Given the description of an element on the screen output the (x, y) to click on. 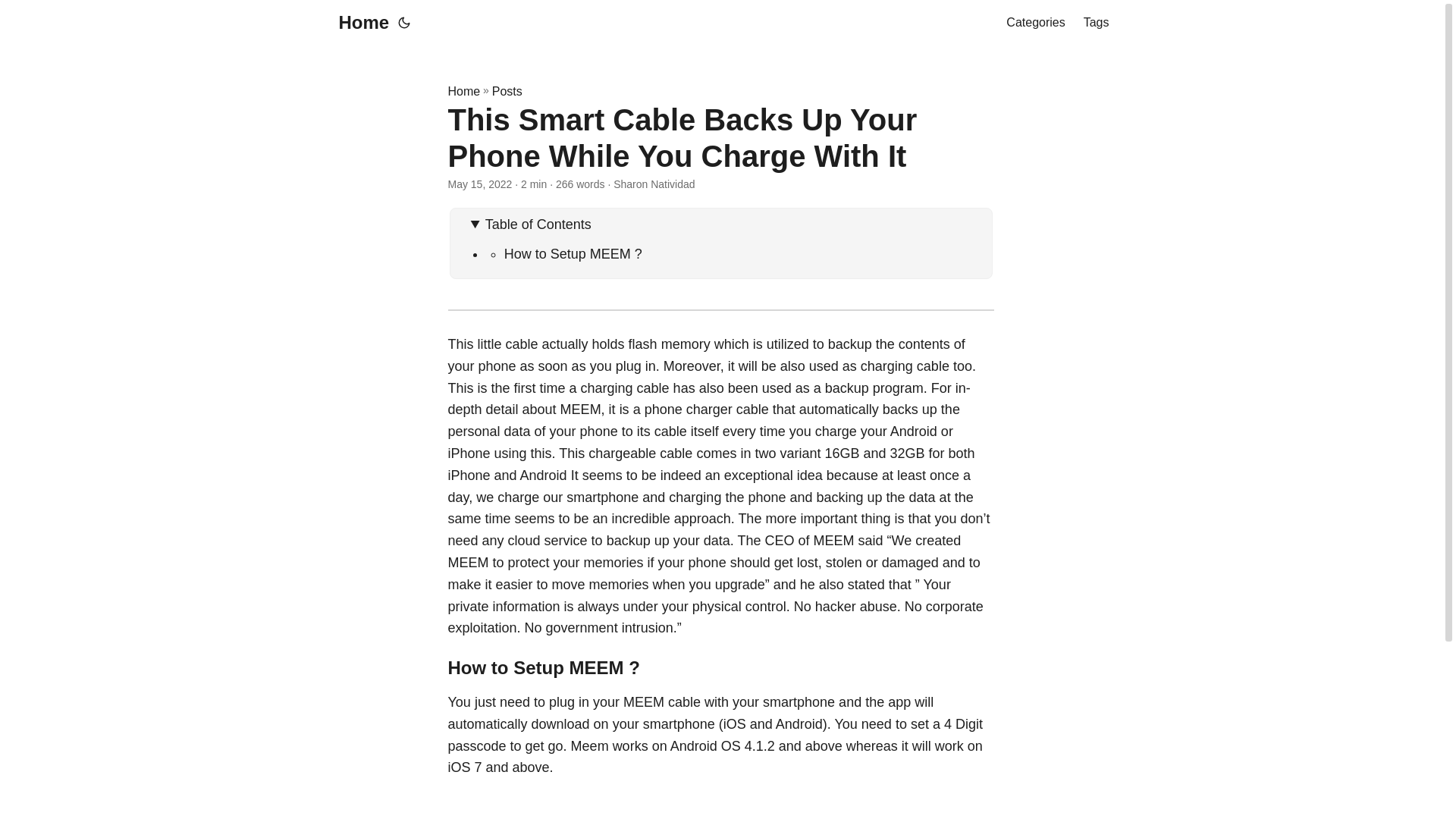
Categories (1035, 22)
Home (359, 22)
How to Setup MEEM ? (572, 253)
Categories (1035, 22)
Home (463, 91)
Posts (507, 91)
